Given the description of an element on the screen output the (x, y) to click on. 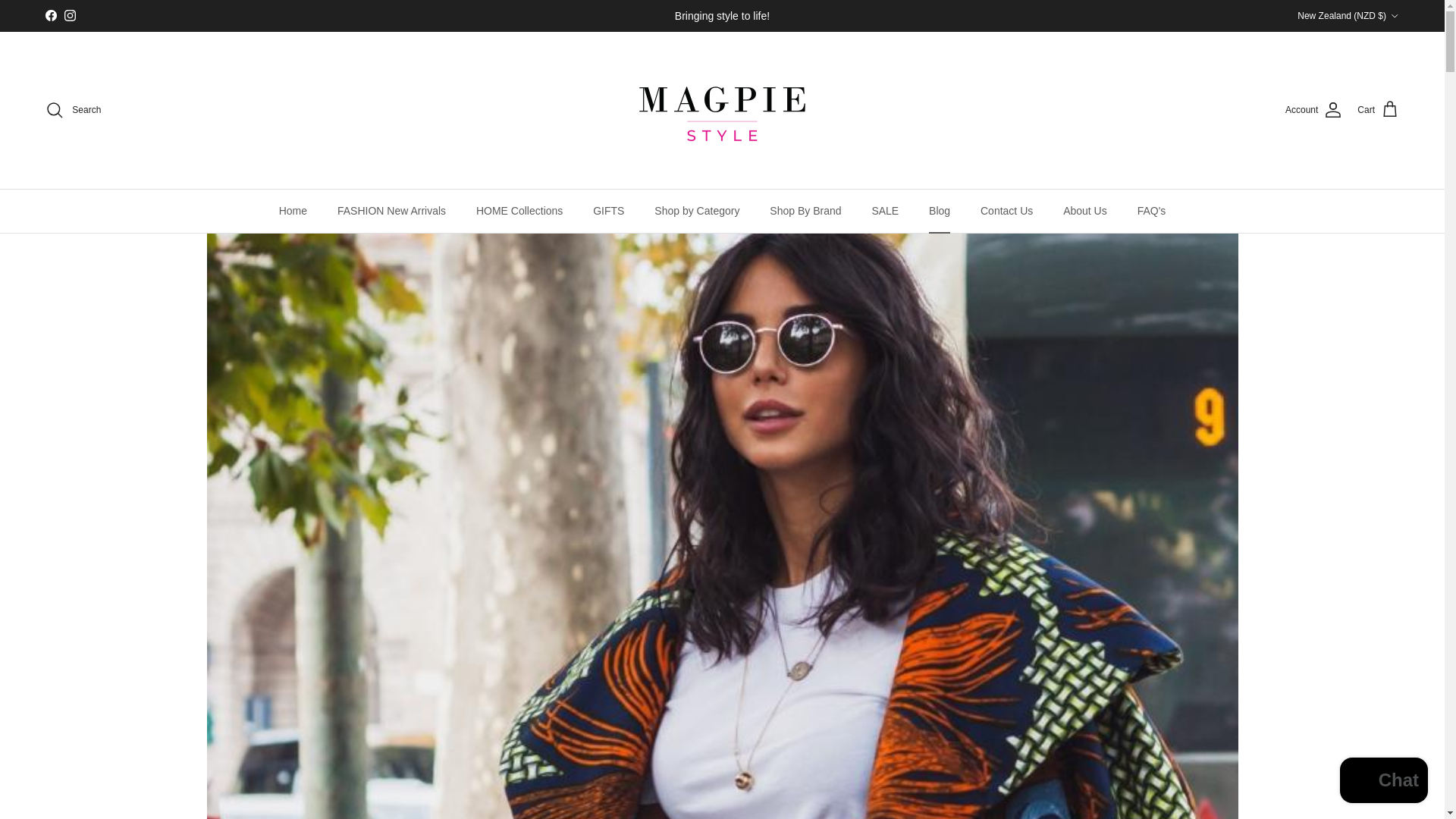
HOME Collections (519, 210)
Search (72, 109)
Magpie Style (722, 109)
Magpie Style on Instagram (69, 15)
Instagram (69, 15)
Facebook (50, 15)
FASHION New Arrivals (391, 210)
Shopify online store chat (1383, 781)
Home (292, 210)
Cart (1377, 109)
